Given the description of an element on the screen output the (x, y) to click on. 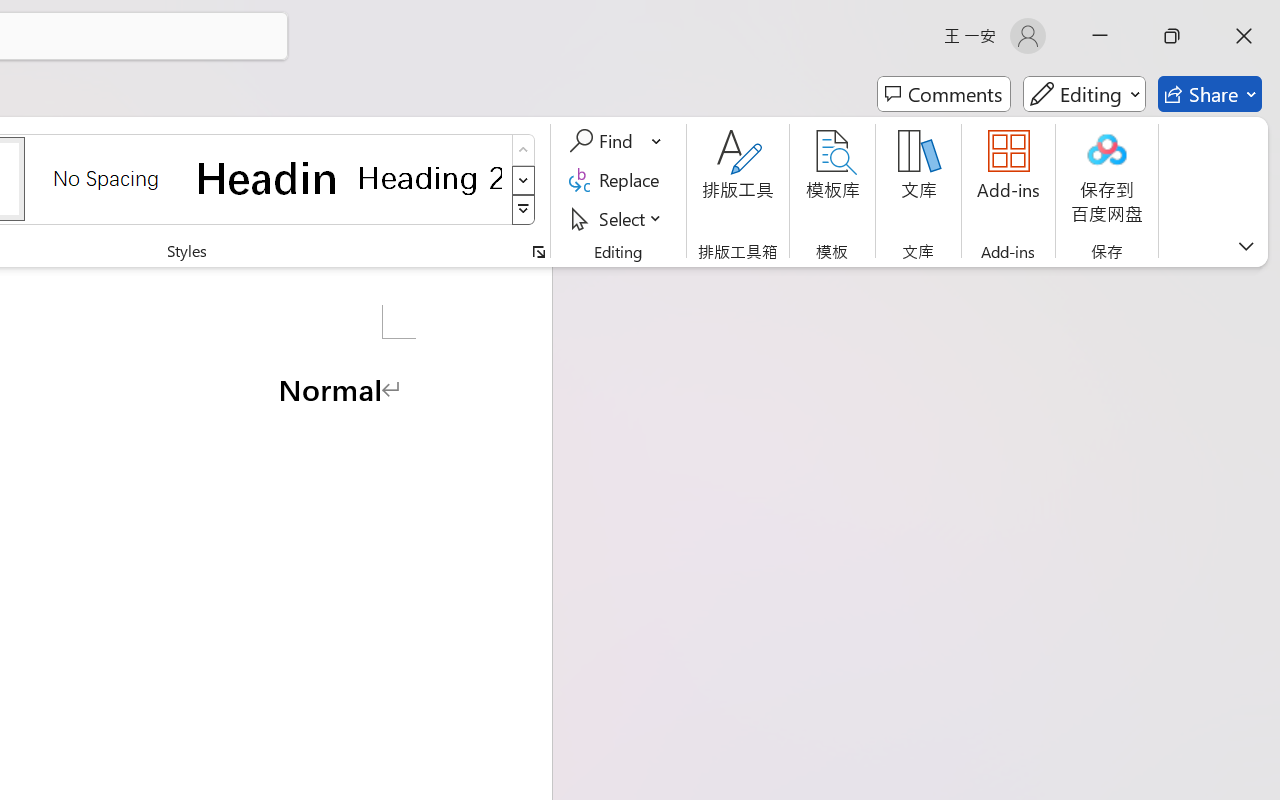
Heading 1 (267, 178)
Replace... (617, 179)
Row up (523, 150)
